Given the description of an element on the screen output the (x, y) to click on. 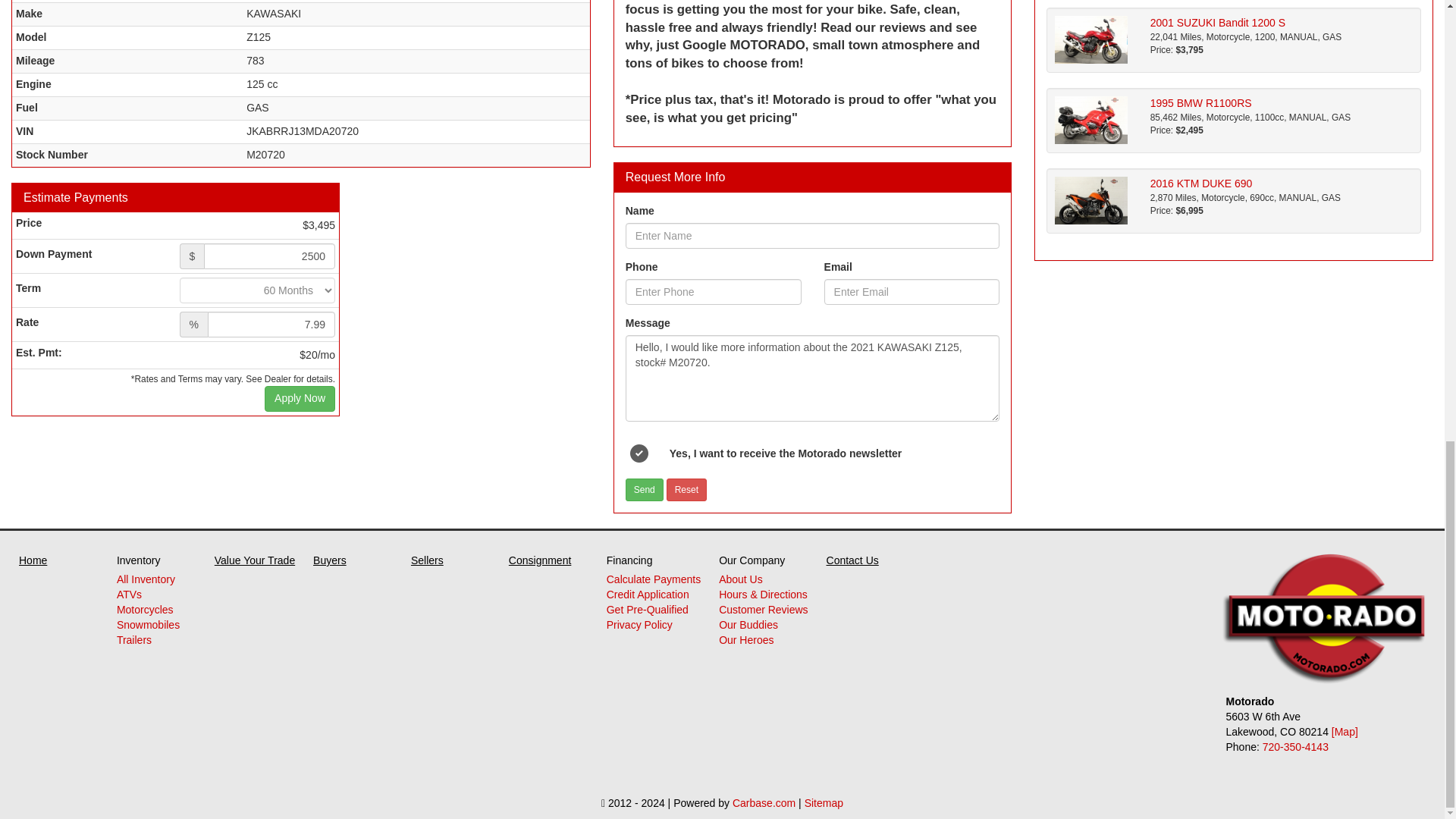
Directions to Motorado (1345, 731)
7.99 (271, 324)
Reset (686, 489)
Call Motorado (1294, 746)
2500 (268, 256)
Send (644, 489)
